Given the description of an element on the screen output the (x, y) to click on. 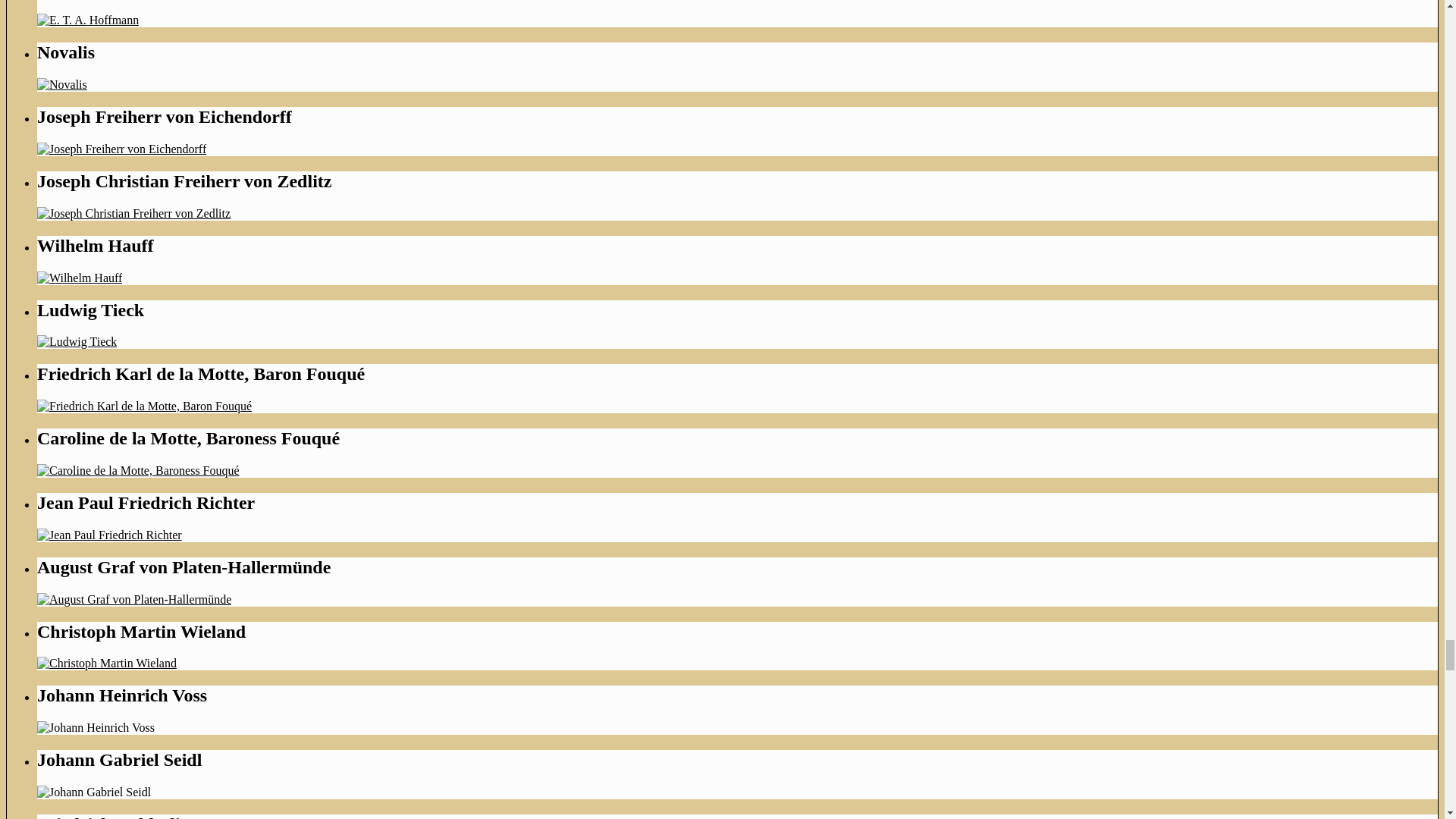
E. T. A. Hoffmann (87, 19)
Joseph Freiherr von Eichendorff  (121, 148)
Wilhelm Hauff (79, 277)
Ludwig Tieck (76, 341)
Joseph Christian Freiherr von Zedlitz (133, 213)
Novalis (62, 83)
